Given the description of an element on the screen output the (x, y) to click on. 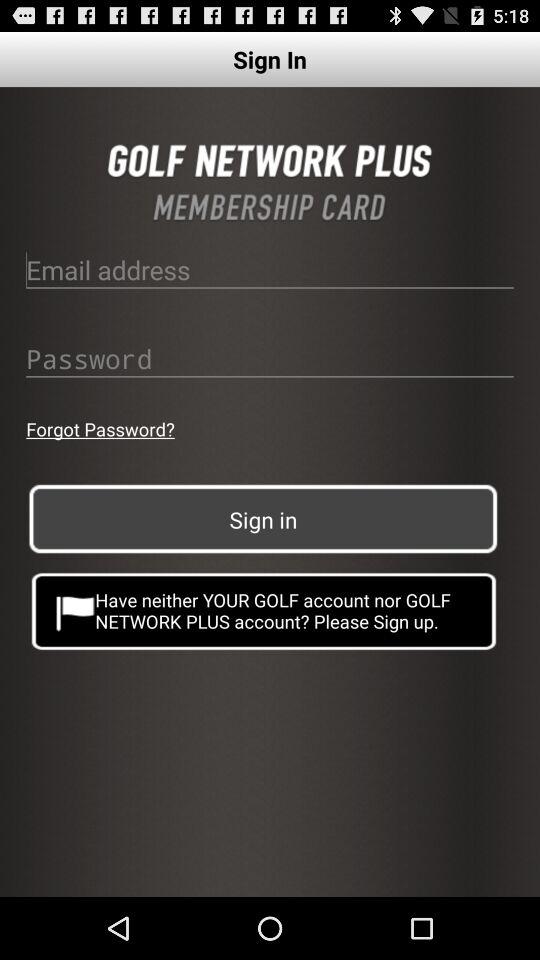
select the forgot password? (100, 428)
